Given the description of an element on the screen output the (x, y) to click on. 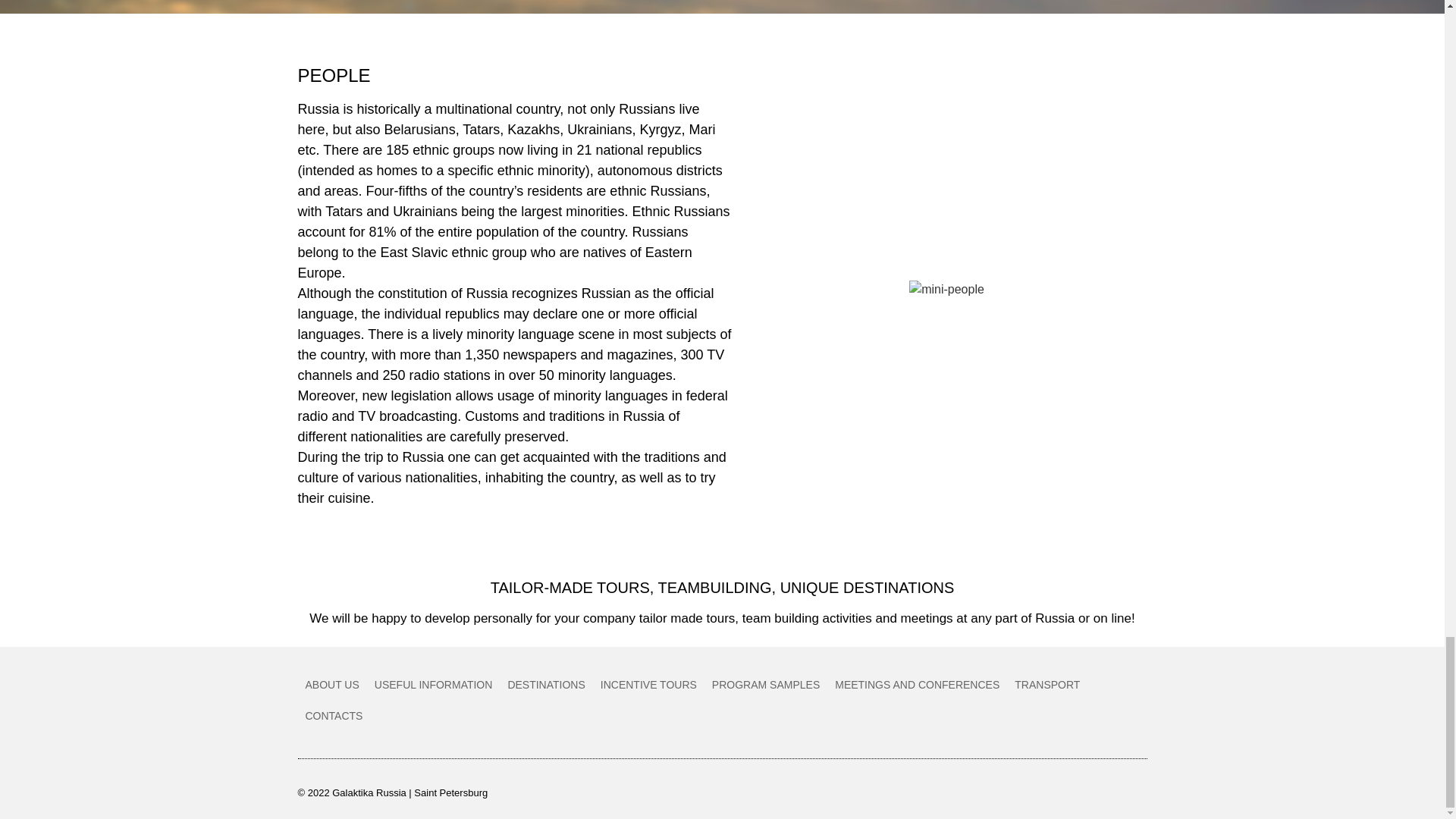
mini-people (946, 289)
USEFUL INFORMATION (433, 685)
MEETINGS AND CONFERENCES (917, 685)
CONTACTS (333, 716)
PROGRAM SAMPLES (765, 685)
DESTINATIONS (545, 685)
INCENTIVE TOURS (648, 685)
ABOUT US (331, 685)
TRANSPORT (1047, 685)
